Given the description of an element on the screen output the (x, y) to click on. 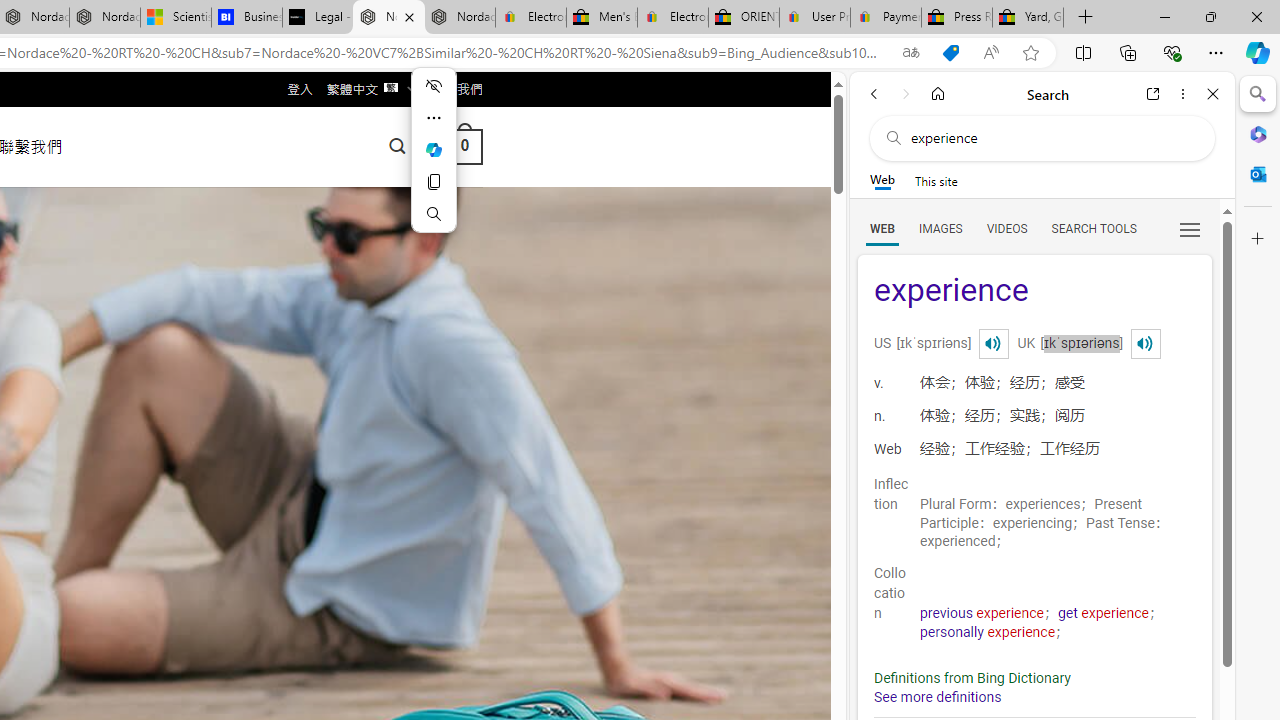
experience (1034, 291)
  0   (464, 146)
This site has coupons! Shopping in Microsoft Edge (950, 53)
Ask Copilot (433, 149)
Mini menu on text selection (433, 161)
